Given the description of an element on the screen output the (x, y) to click on. 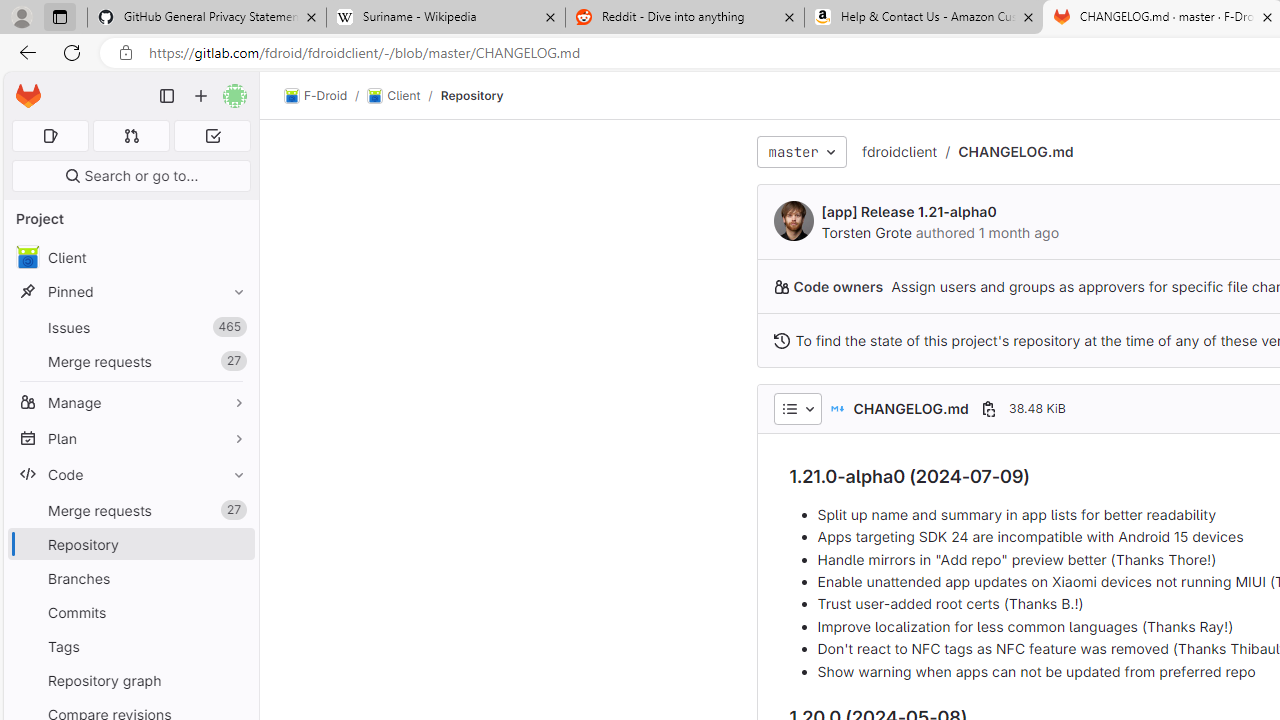
AutomationID: dropdown-toggle-btn-50 (797, 408)
Create new... (201, 96)
Branches (130, 578)
Repository (472, 95)
Code (130, 474)
To-Do list 0 (212, 136)
Assigned issues 0 (50, 136)
Manage (130, 402)
Unpin Merge requests (234, 510)
Unpin Issues (234, 327)
fdroidclient (899, 151)
Issues 465 (130, 327)
Client (394, 96)
